Given the description of an element on the screen output the (x, y) to click on. 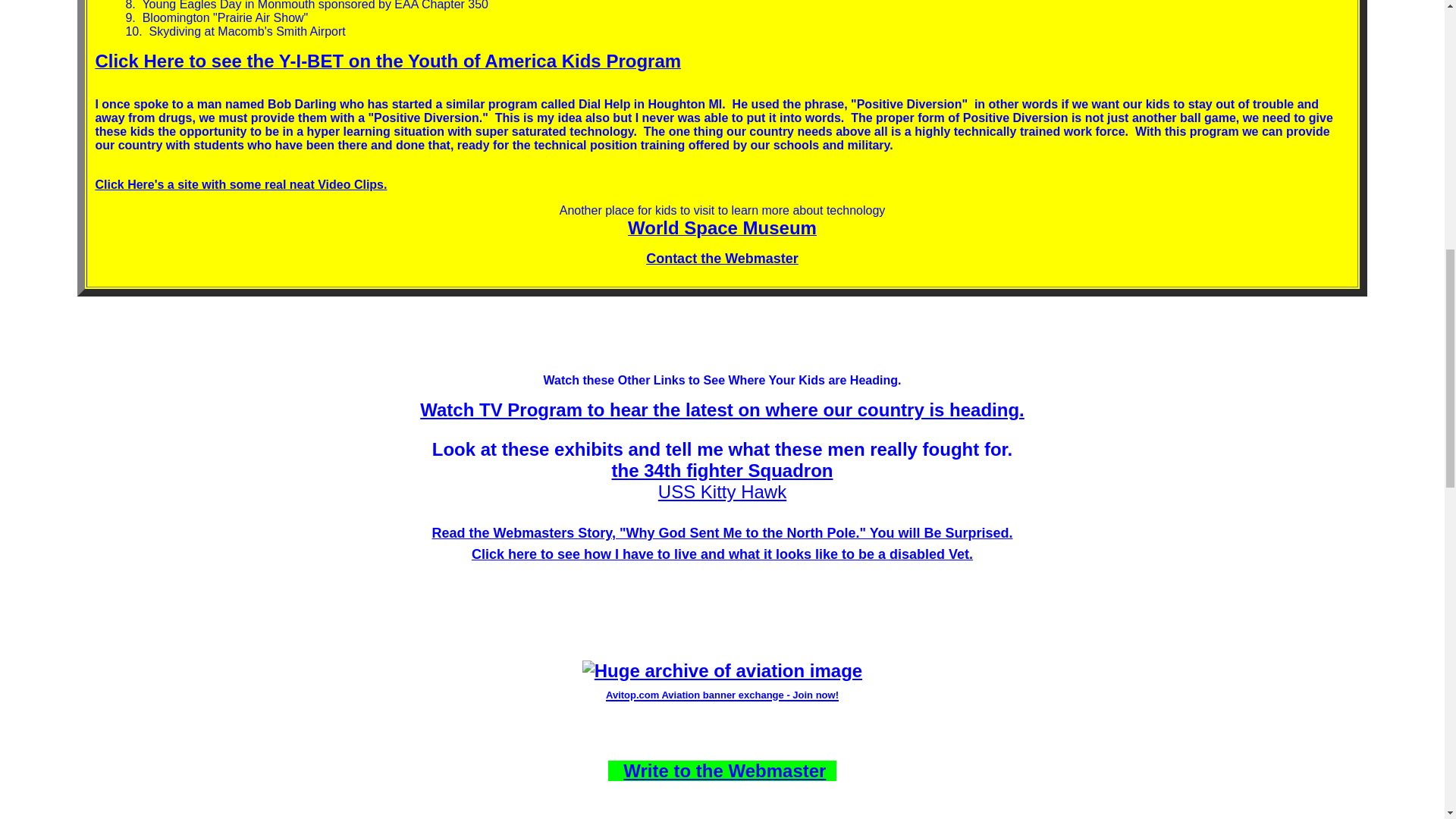
Avitop.com Aviation banner exchange - Join now! (721, 691)
Contact the Webmaster (721, 258)
Click Here's a site with some real neat Video Clips. (240, 184)
the 34th fighter Squadron (721, 470)
Write to the Webmaster (724, 770)
World Space Museum (721, 229)
USS Kitty Hawk (722, 491)
